Given the description of an element on the screen output the (x, y) to click on. 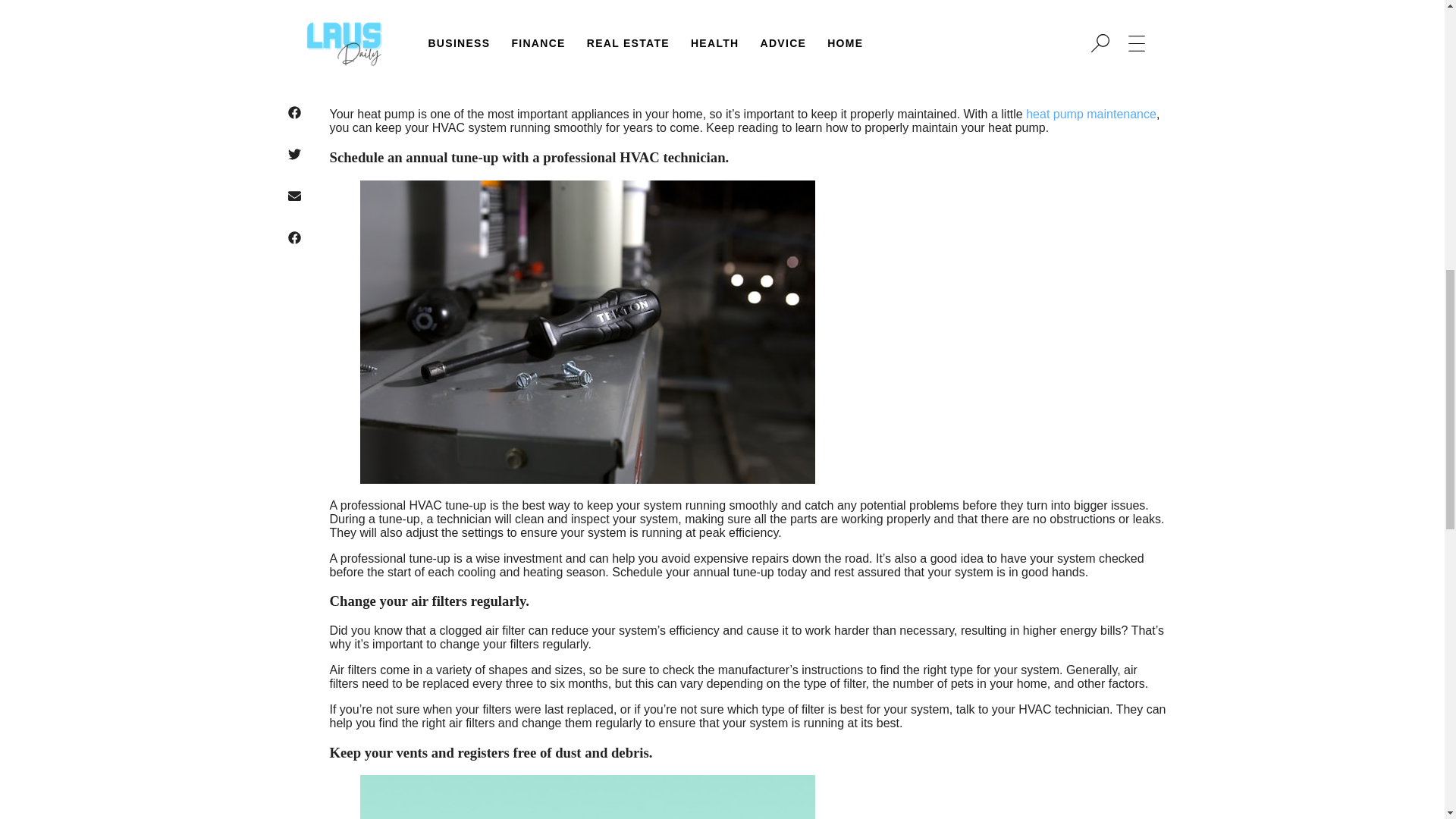
heat pump maintenance (1091, 113)
